Given the description of an element on the screen output the (x, y) to click on. 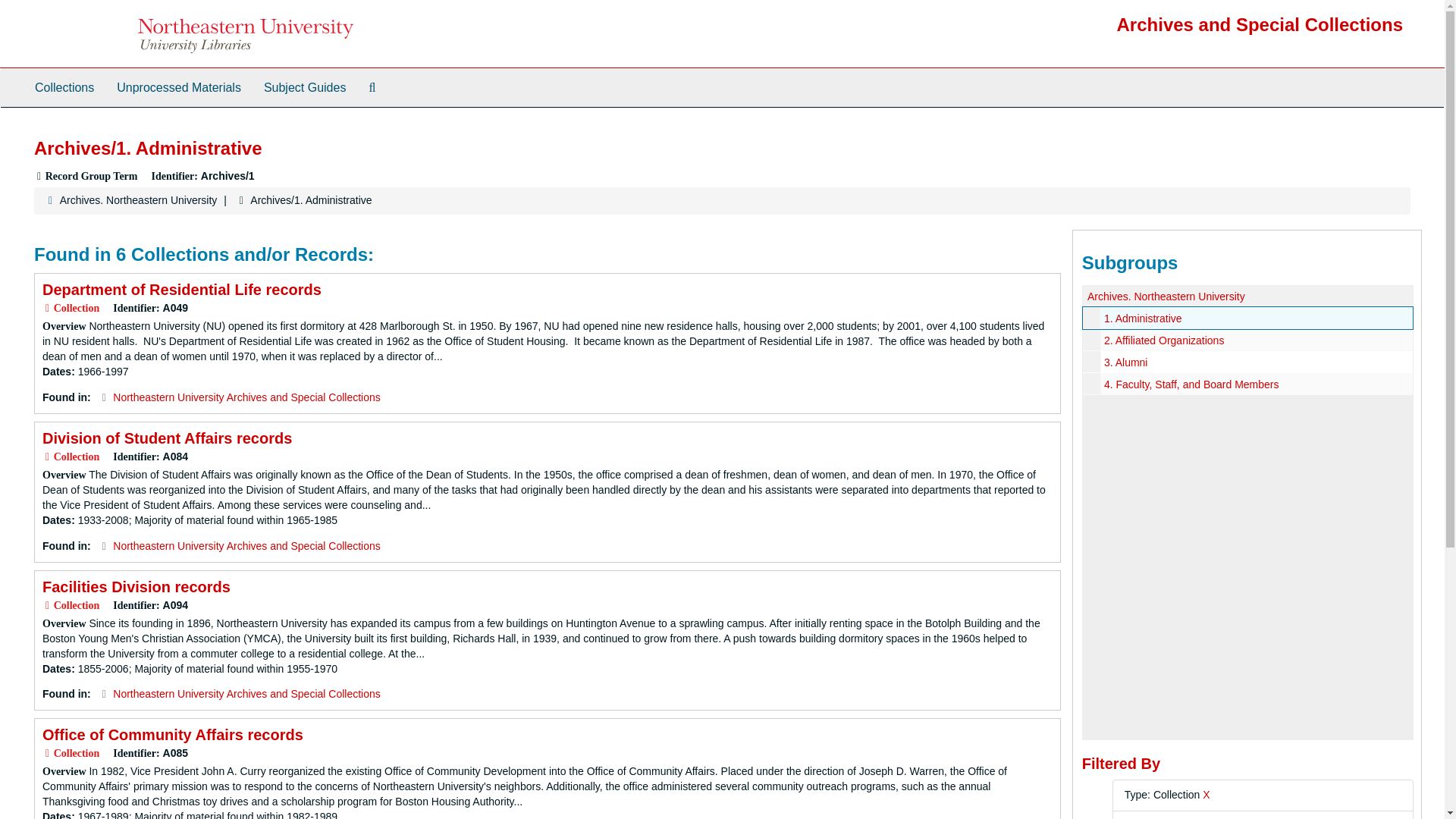
Department of Residential Life records (181, 289)
2. Affiliated Organizations (1163, 340)
Northeastern University Archives and Special Collections (246, 545)
Archives. Northeastern University (1165, 296)
3. Alumni (1125, 362)
Return to the Archives homepage (1259, 24)
Subject Guides (304, 87)
Facilities Division records (136, 586)
Affiliated Organizations (1247, 340)
Administrative (1247, 318)
Northeastern University Archives and Special Collections (246, 693)
Division of Student Affairs records (167, 437)
Office of Community Affairs records (172, 734)
Alumni (1247, 362)
Archives. Northeastern University (137, 200)
